Given the description of an element on the screen output the (x, y) to click on. 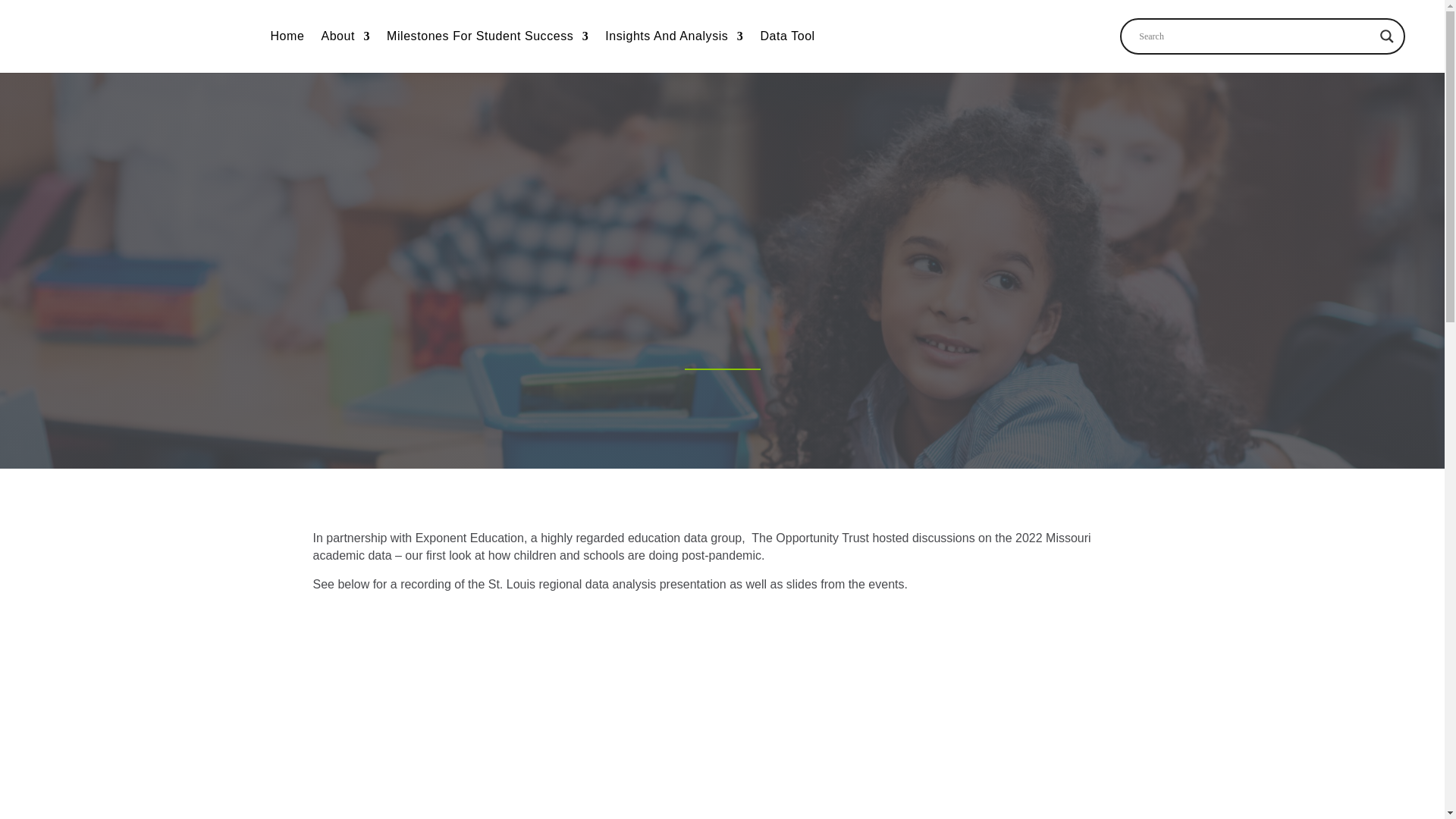
Insights And Analysis (673, 39)
About (344, 39)
Milestones For Student Success (487, 39)
Data Tool (786, 39)
YouTube video player (721, 727)
Home (286, 39)
